Given the description of an element on the screen output the (x, y) to click on. 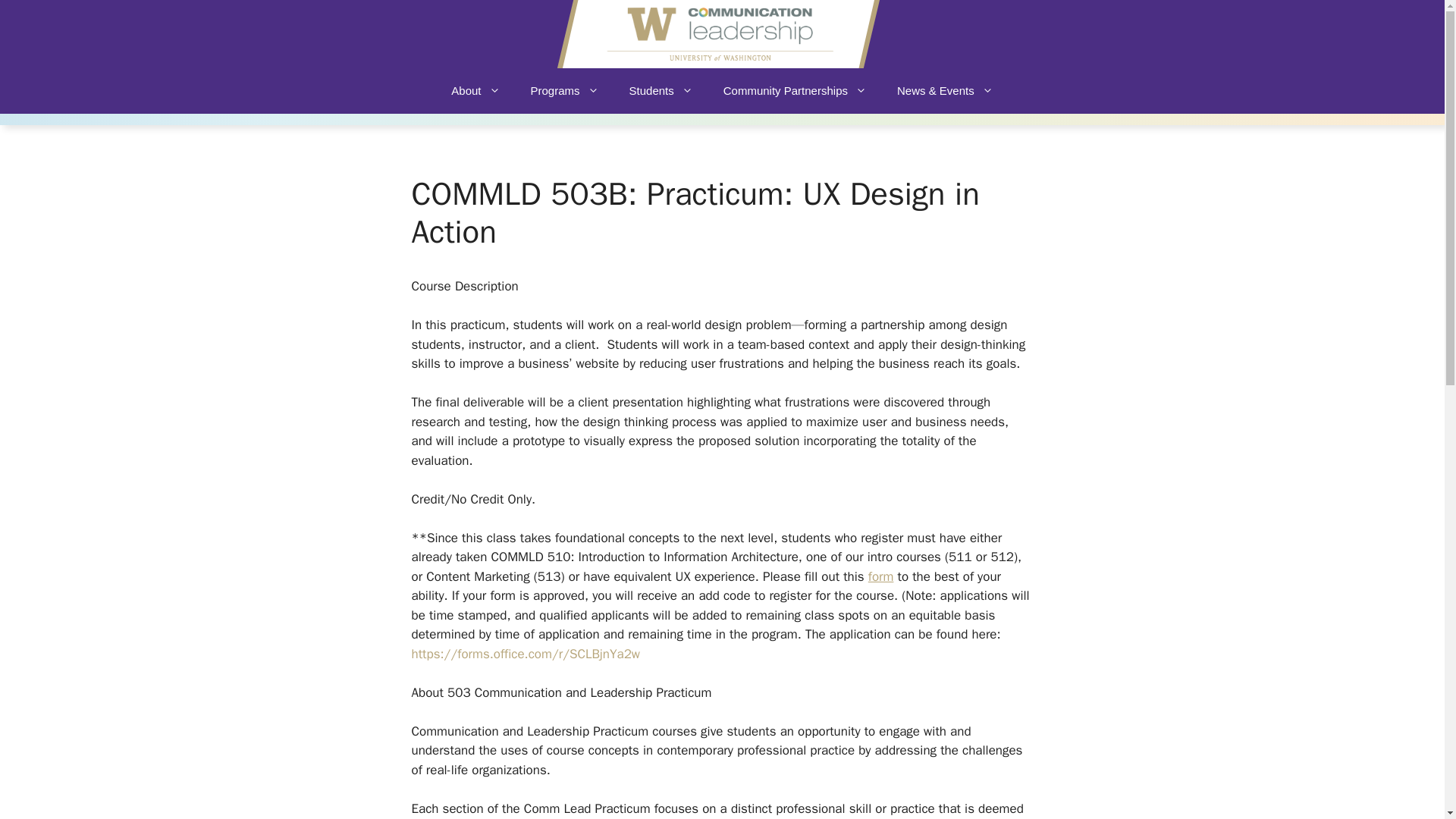
CL DEV (717, 33)
About (475, 90)
